Given the description of an element on the screen output the (x, y) to click on. 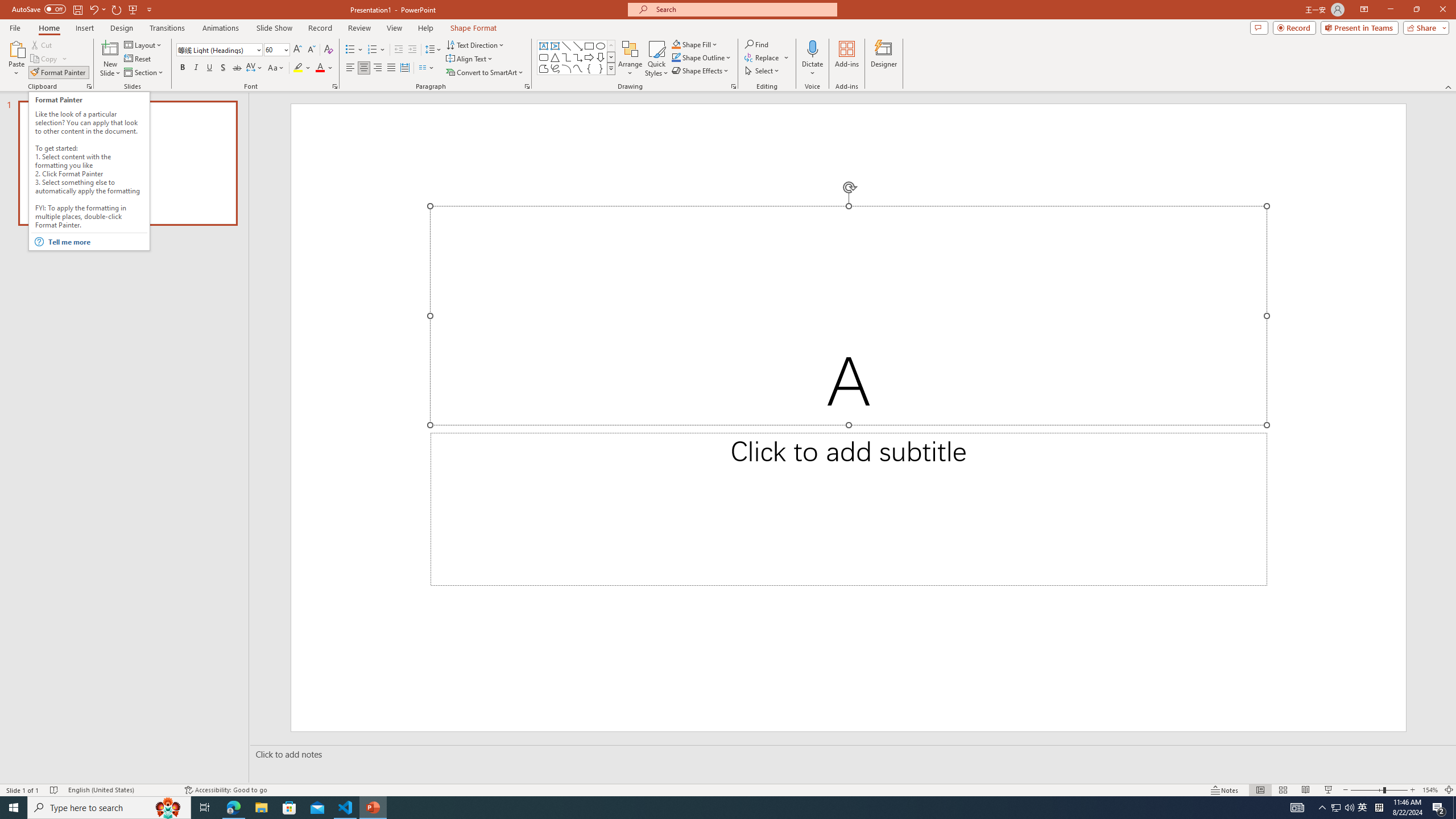
Close (1442, 9)
Ribbon Display Options (1364, 9)
Shape Fill Orange, Accent 2 (675, 44)
Zoom In (1412, 790)
